Given the description of an element on the screen output the (x, y) to click on. 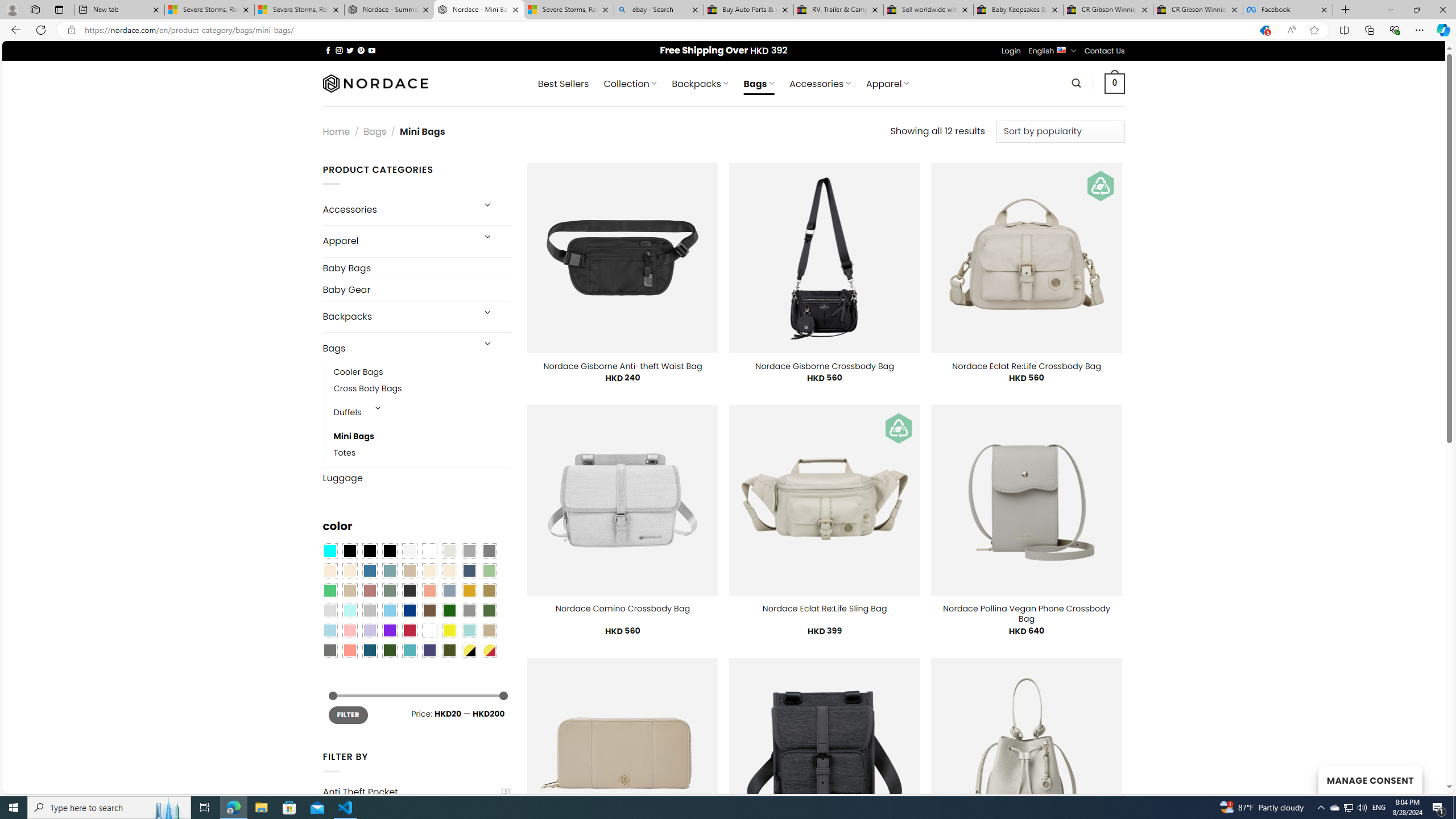
Search (1076, 83)
FILTER (347, 714)
Ash Gray (449, 550)
Navy Blue (408, 610)
Black-Brown (389, 550)
Light Gray (329, 610)
Silver (369, 610)
Luggage (416, 477)
Accessories (397, 209)
Brown (429, 610)
